Given the description of an element on the screen output the (x, y) to click on. 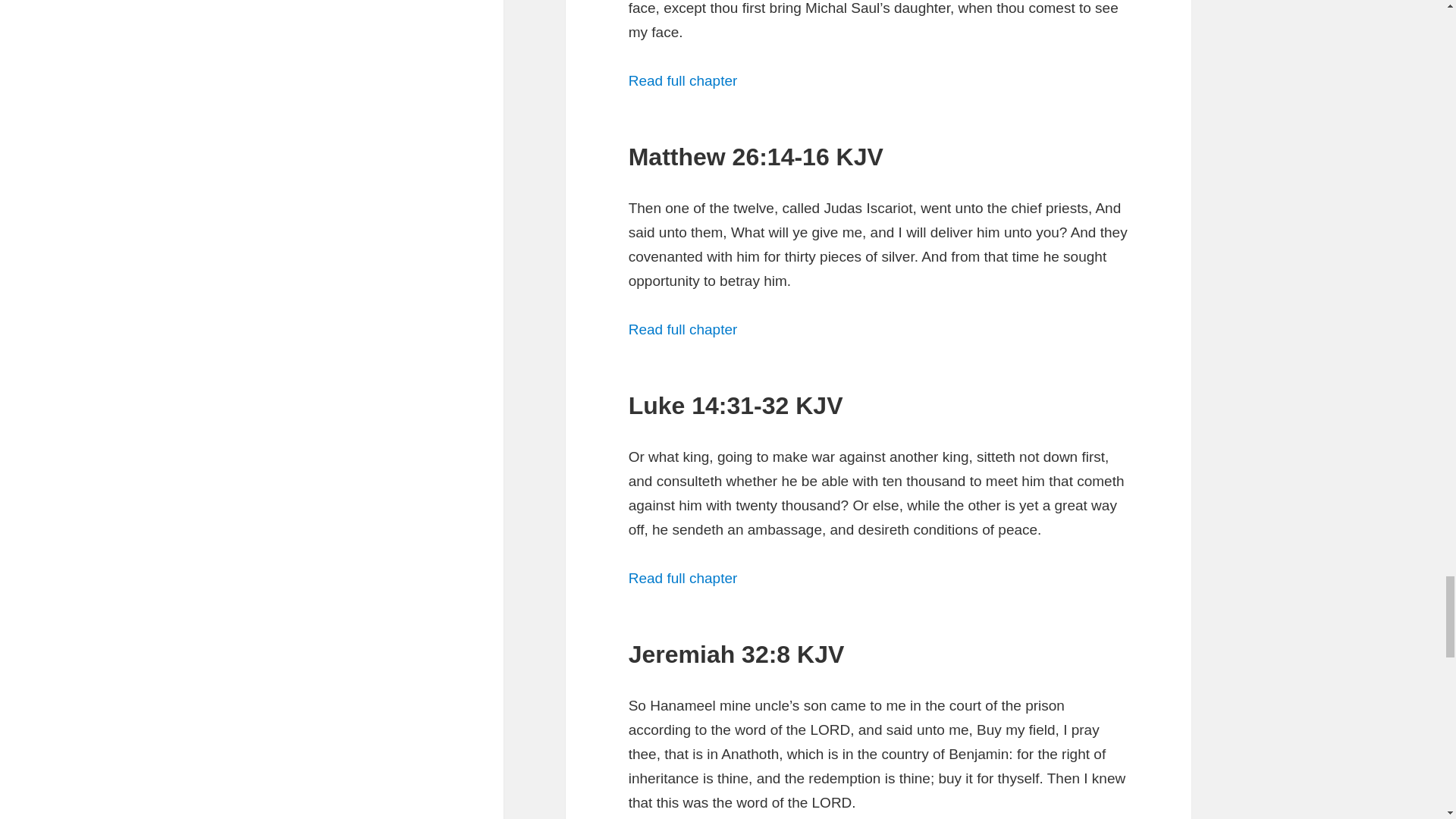
Read full chapter (683, 329)
Read full chapter (683, 80)
Read full chapter (683, 578)
